Given the description of an element on the screen output the (x, y) to click on. 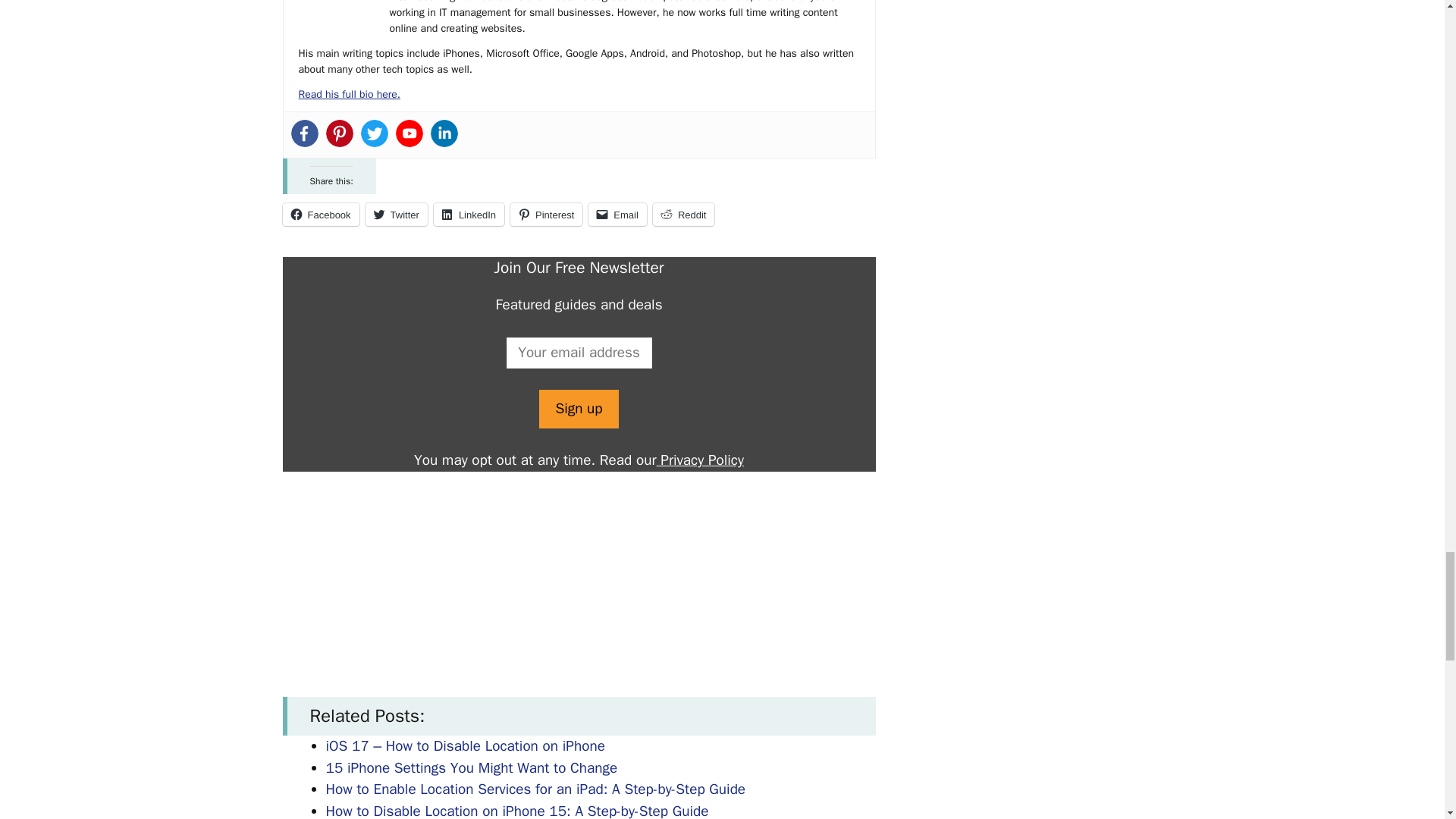
Email (617, 214)
Click to share on Facebook (320, 214)
How to Disable Location on iPhone 15: A Step-by-Step Guide (517, 810)
15 iPhone Settings You Might Want to Change (471, 768)
Twitter (374, 133)
Read his full bio here. (349, 93)
Click to email a link to a friend (617, 214)
Sign up (577, 408)
Click to share on Reddit (683, 214)
Youtube (409, 133)
Facebook (304, 133)
Pinterest (339, 133)
Click to share on Twitter (396, 214)
Facebook (320, 214)
Click to share on LinkedIn (468, 214)
